Given the description of an element on the screen output the (x, y) to click on. 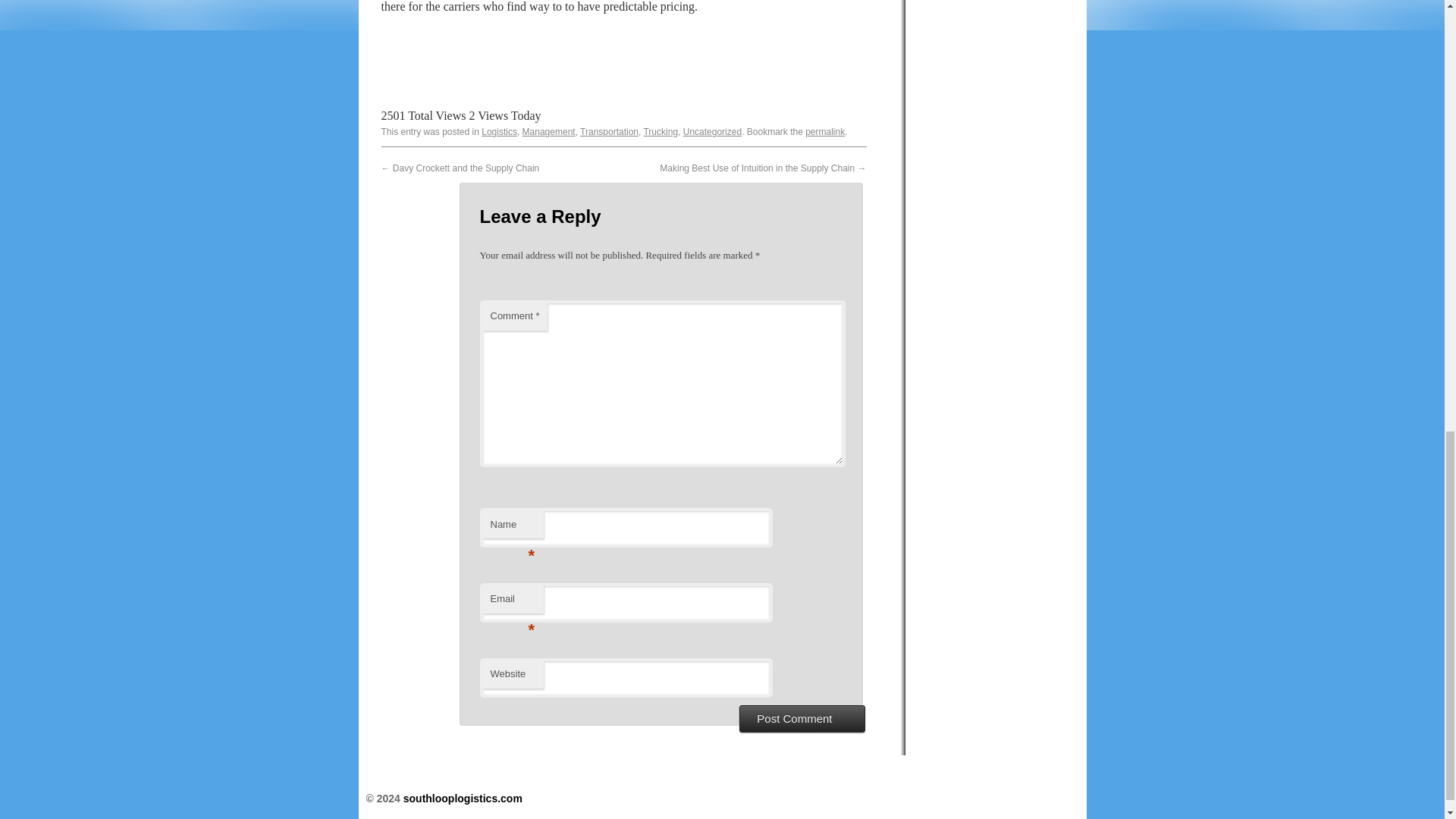
southlooplogistics.com (462, 798)
Trucking (660, 131)
Transportation (609, 131)
permalink (824, 131)
Logistics (498, 131)
Permalink to LTL Pricing can be too Spirit Airlines (824, 131)
Post Comment (801, 718)
Uncategorized (711, 131)
Post Comment (801, 718)
Management (548, 131)
southlooplogistics.com (462, 798)
